Given the description of an element on the screen output the (x, y) to click on. 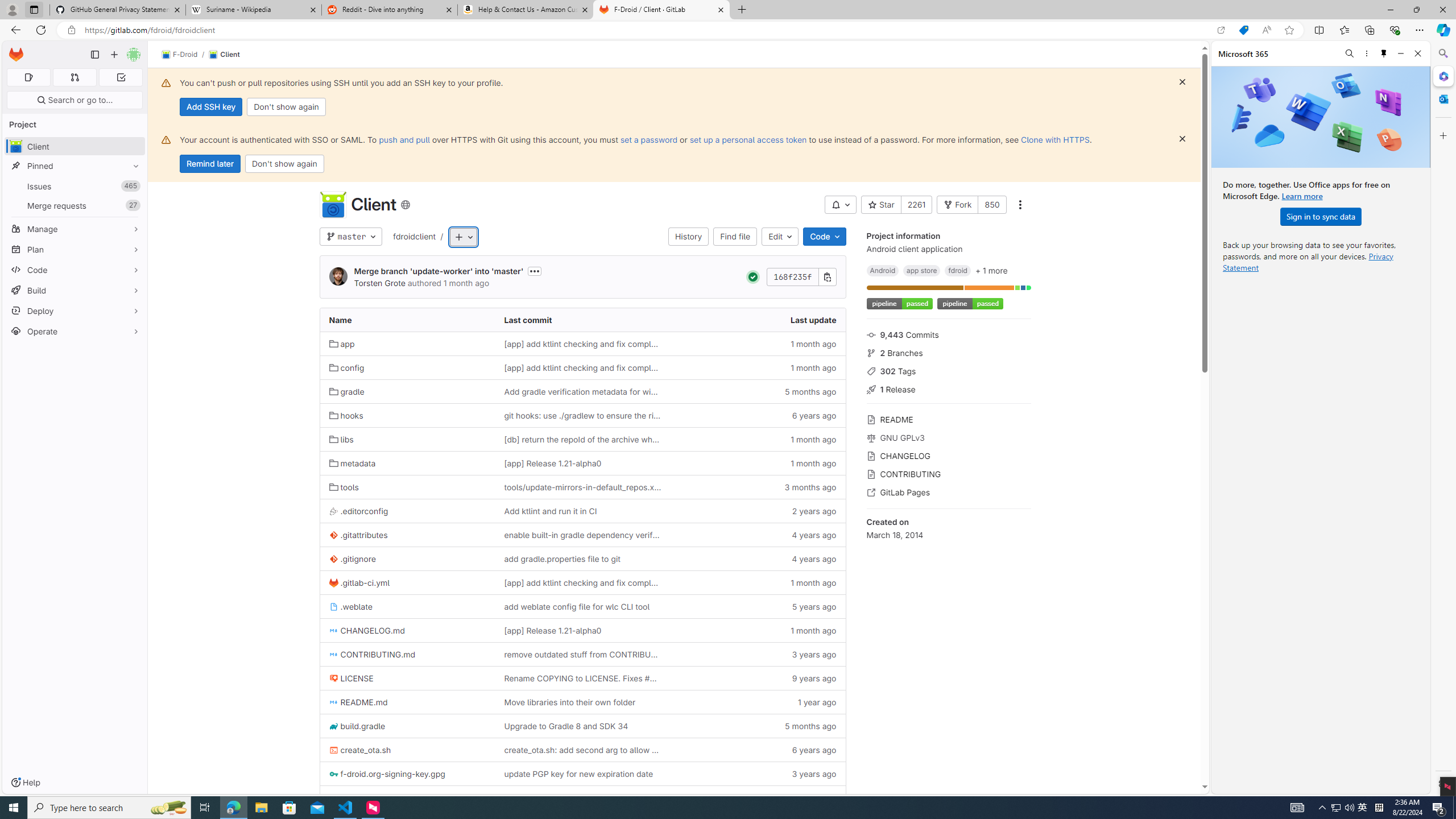
add gradle.properties file to git (583, 558)
README.md (358, 702)
Operate (74, 330)
update PGP key for new expiration date (578, 774)
To-Do list 0 (120, 76)
app (407, 343)
create_ota.sh (360, 749)
Android (882, 269)
libs (407, 439)
Client (224, 54)
fdroidclient (414, 235)
README (948, 418)
